Given the description of an element on the screen output the (x, y) to click on. 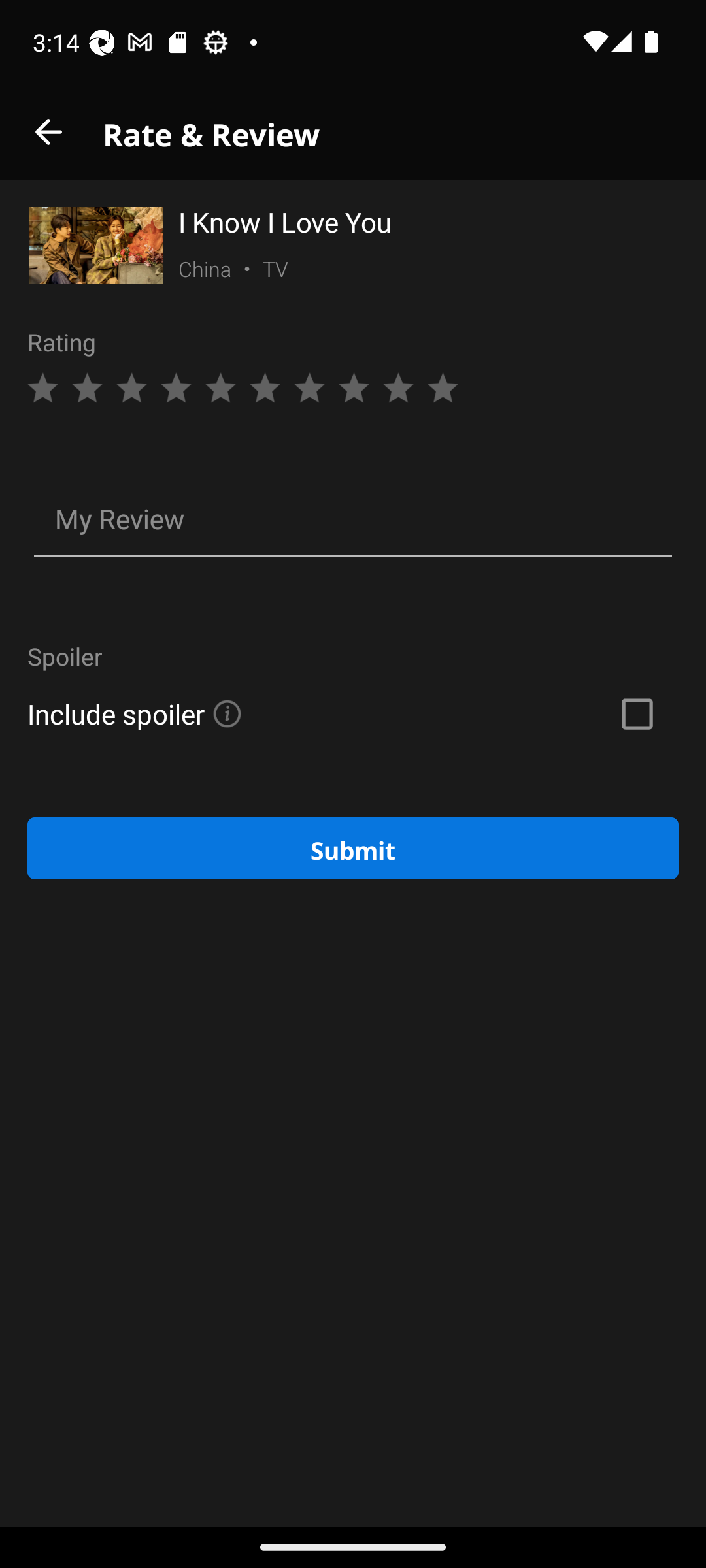
close_button (48, 131)
My Review (352, 521)
Submit (352, 847)
